Given the description of an element on the screen output the (x, y) to click on. 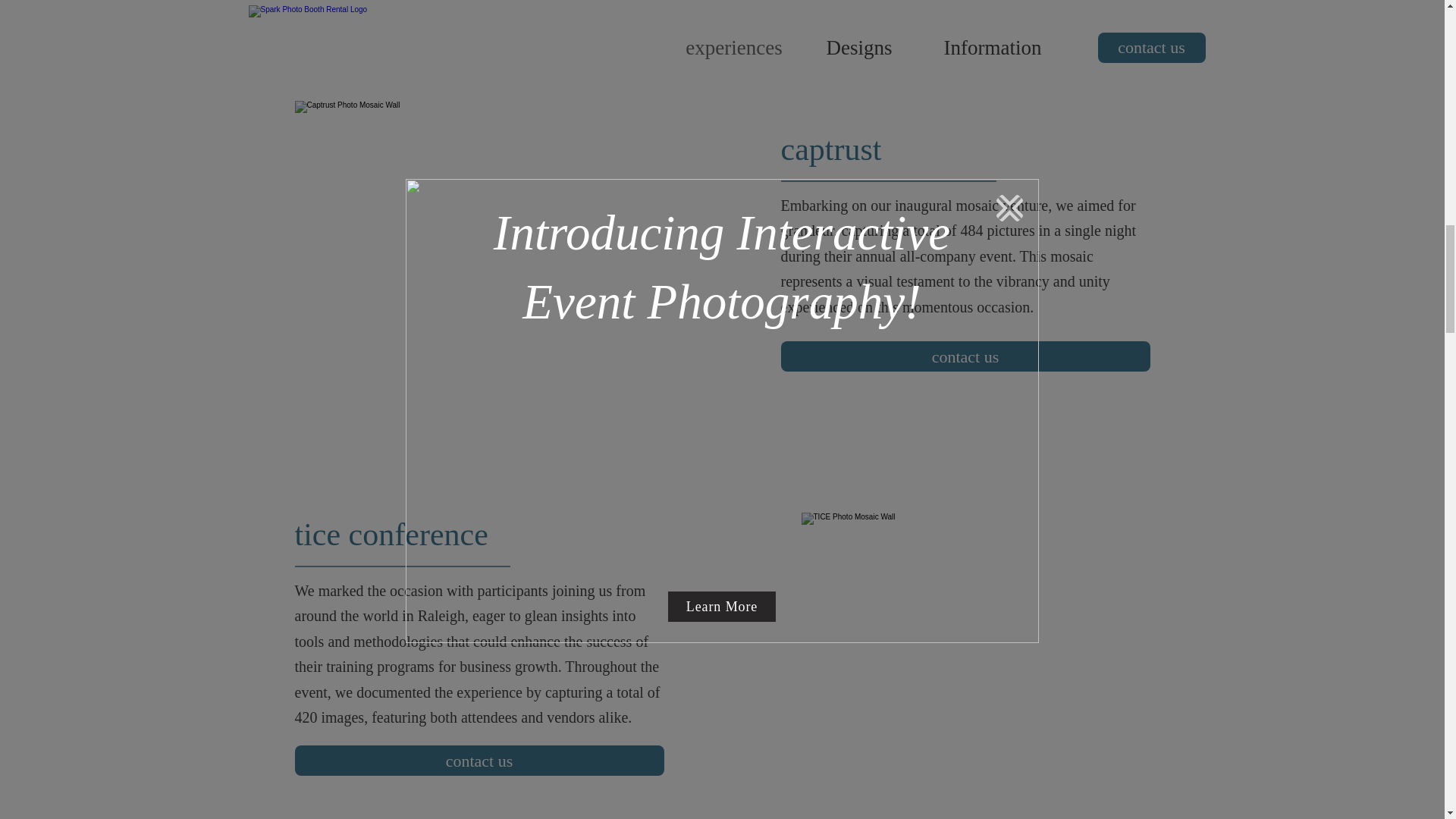
contact us (965, 356)
contact us (478, 760)
